Given the description of an element on the screen output the (x, y) to click on. 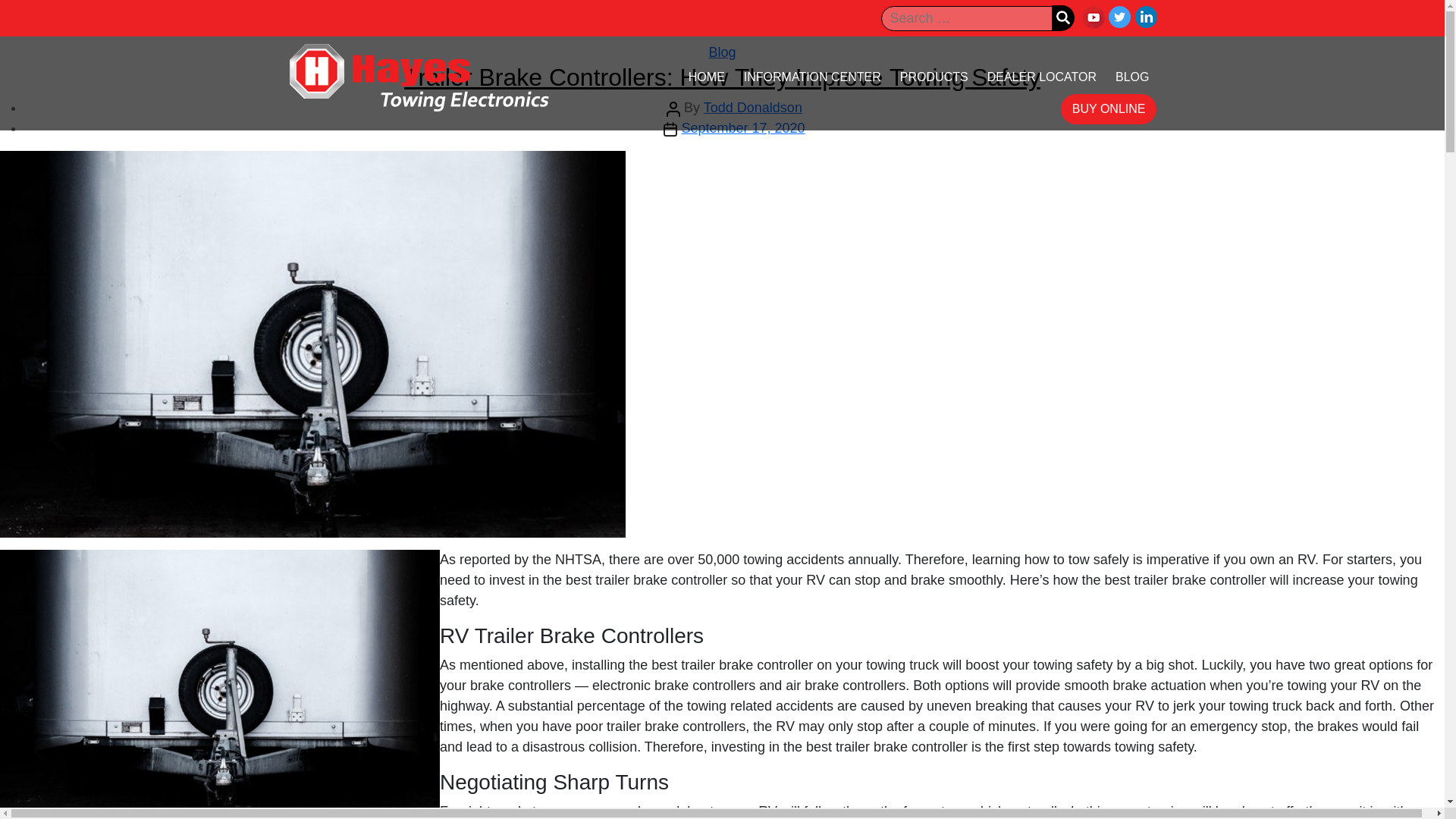
Search (1062, 17)
Todd Donaldson (752, 107)
trailer-2 (219, 684)
DEALER LOCATOR (1041, 77)
BUY ONLINE (1108, 108)
September 17, 2020 (743, 127)
INFORMATION CENTER (812, 77)
Trailer Brake Controllers: How They Improve Towing Safety (722, 76)
best trailer brake controller (731, 664)
Blog (721, 52)
Search (1062, 17)
BLOG (1132, 77)
Search (1062, 17)
HOME (706, 77)
PRODUCTS (933, 77)
